Given the description of an element on the screen output the (x, y) to click on. 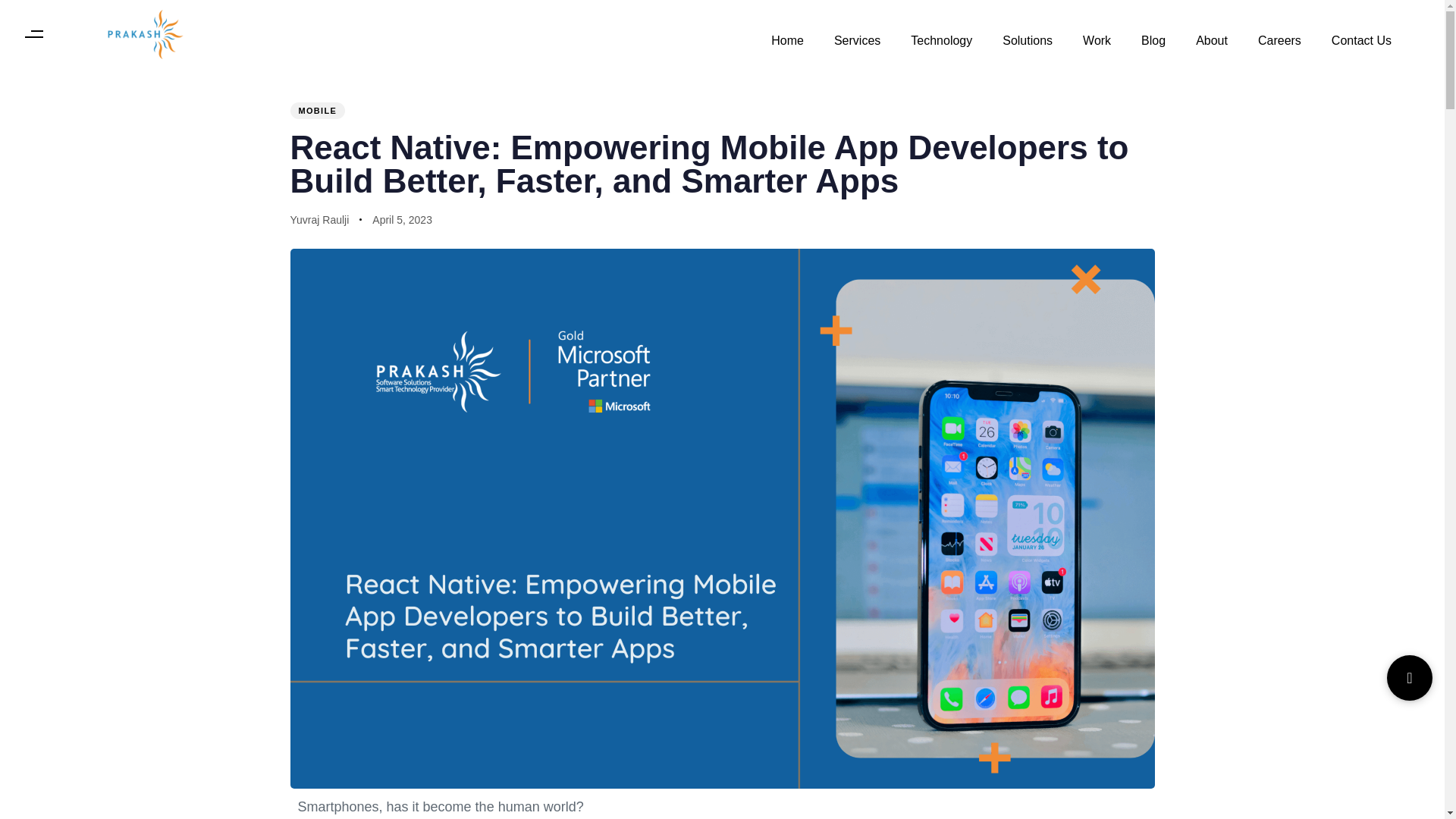
Services (856, 33)
Home (786, 33)
Posts by Yuvraj Raulji (319, 219)
